Given the description of an element on the screen output the (x, y) to click on. 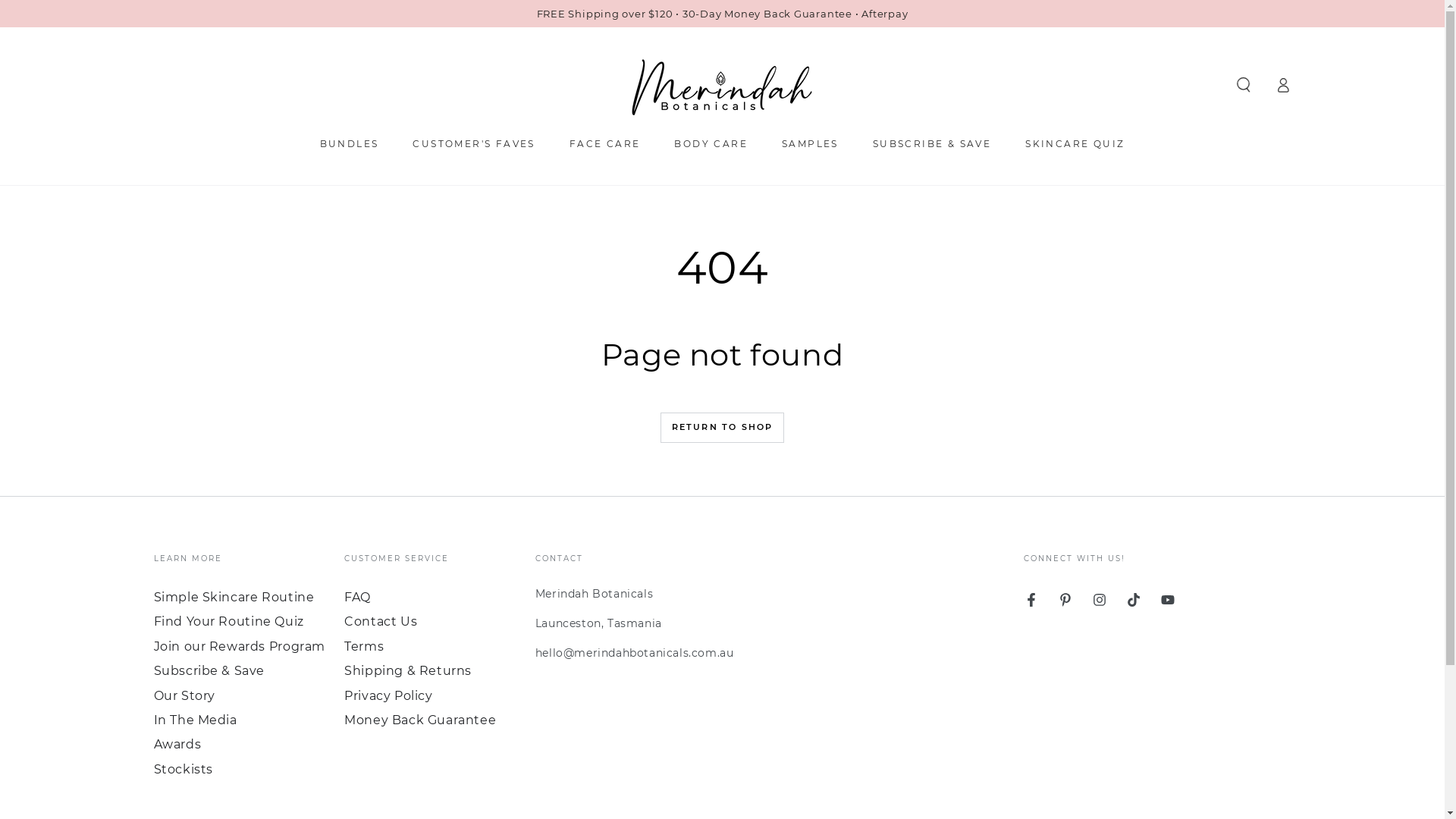
Contact Us Element type: text (380, 621)
YouTube Element type: text (1167, 599)
Terms Element type: text (363, 646)
Pinterest Element type: text (1065, 599)
Awards Element type: text (176, 744)
RETURN TO SHOP Element type: text (722, 427)
CUSTOMER'S FAVES Element type: text (473, 142)
Stockists Element type: text (182, 769)
Facebook Element type: text (1031, 599)
SAMPLES Element type: text (810, 142)
SUBSCRIBE & SAVE Element type: text (931, 142)
Log in Element type: text (1282, 84)
Find Your Routine Quiz Element type: text (228, 621)
BUNDLES Element type: text (349, 142)
FACE CARE Element type: text (605, 142)
Our Story Element type: text (183, 695)
TikTok Element type: text (1133, 599)
SKINCARE QUIZ Element type: text (1074, 142)
Money Back Guarantee Element type: text (419, 719)
Privacy Policy Element type: text (388, 695)
Shipping & Returns Element type: text (407, 670)
In The Media Element type: text (194, 719)
FAQ Element type: text (357, 596)
Instagram Element type: text (1099, 599)
Simple Skincare Routine Element type: text (233, 596)
Join our Rewards Program Element type: text (238, 646)
Subscribe & Save Element type: text (208, 670)
BODY CARE Element type: text (710, 142)
